Given the description of an element on the screen output the (x, y) to click on. 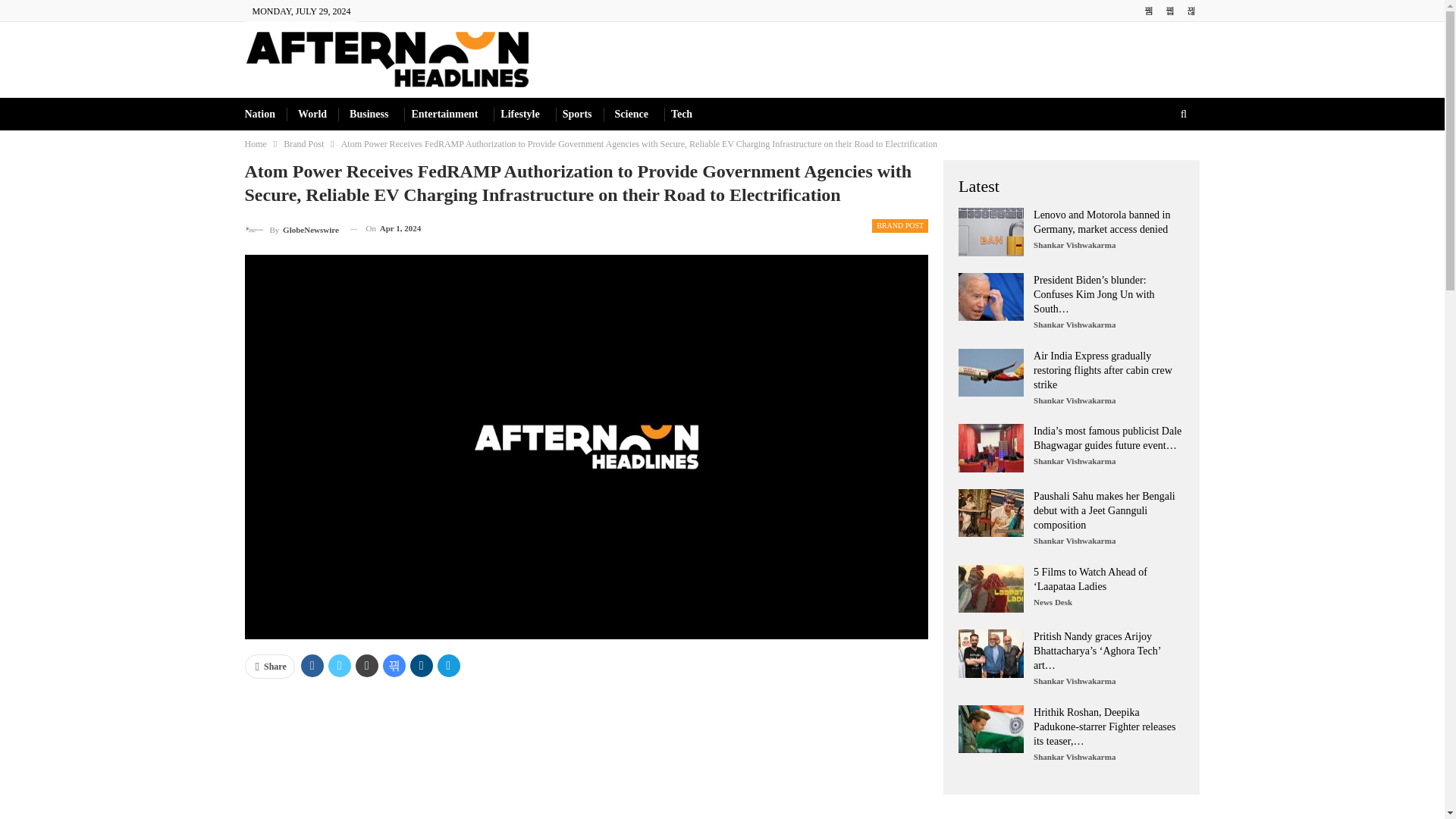
Sports (577, 113)
Browse Author Articles (290, 228)
Entertainment (443, 113)
Lifestyle (519, 113)
Business (368, 113)
Nation (259, 113)
Advertisement (586, 755)
Science (630, 113)
